Given the description of an element on the screen output the (x, y) to click on. 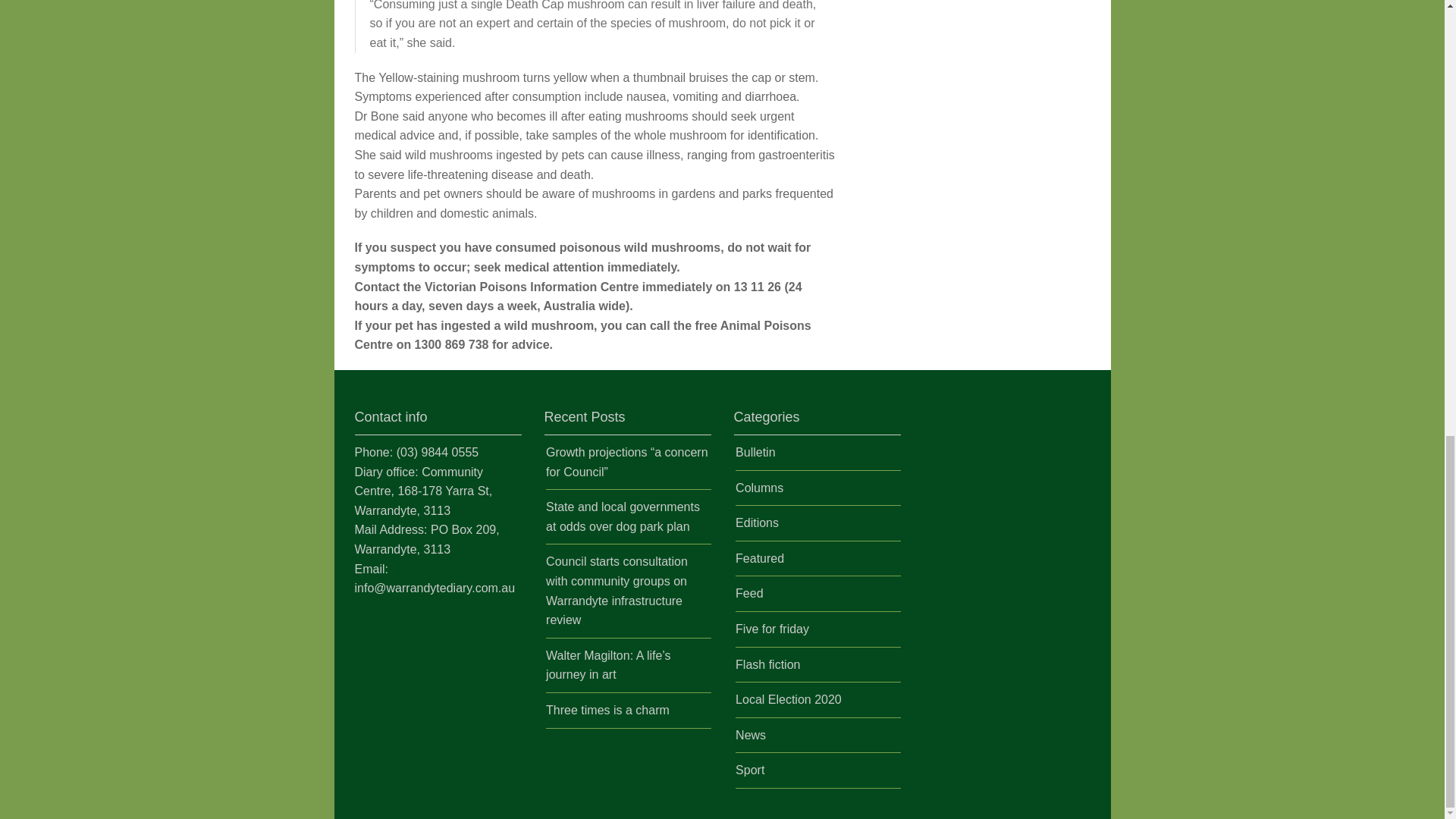
Five for friday (772, 628)
Featured (759, 558)
Feed (748, 593)
Flash fiction (767, 664)
State and local governments at odds over dog park plan (623, 516)
Local Election 2020 (788, 698)
Columns (759, 487)
News (750, 735)
Three times is a charm (607, 709)
Editions (756, 522)
Bulletin (754, 451)
